Given the description of an element on the screen output the (x, y) to click on. 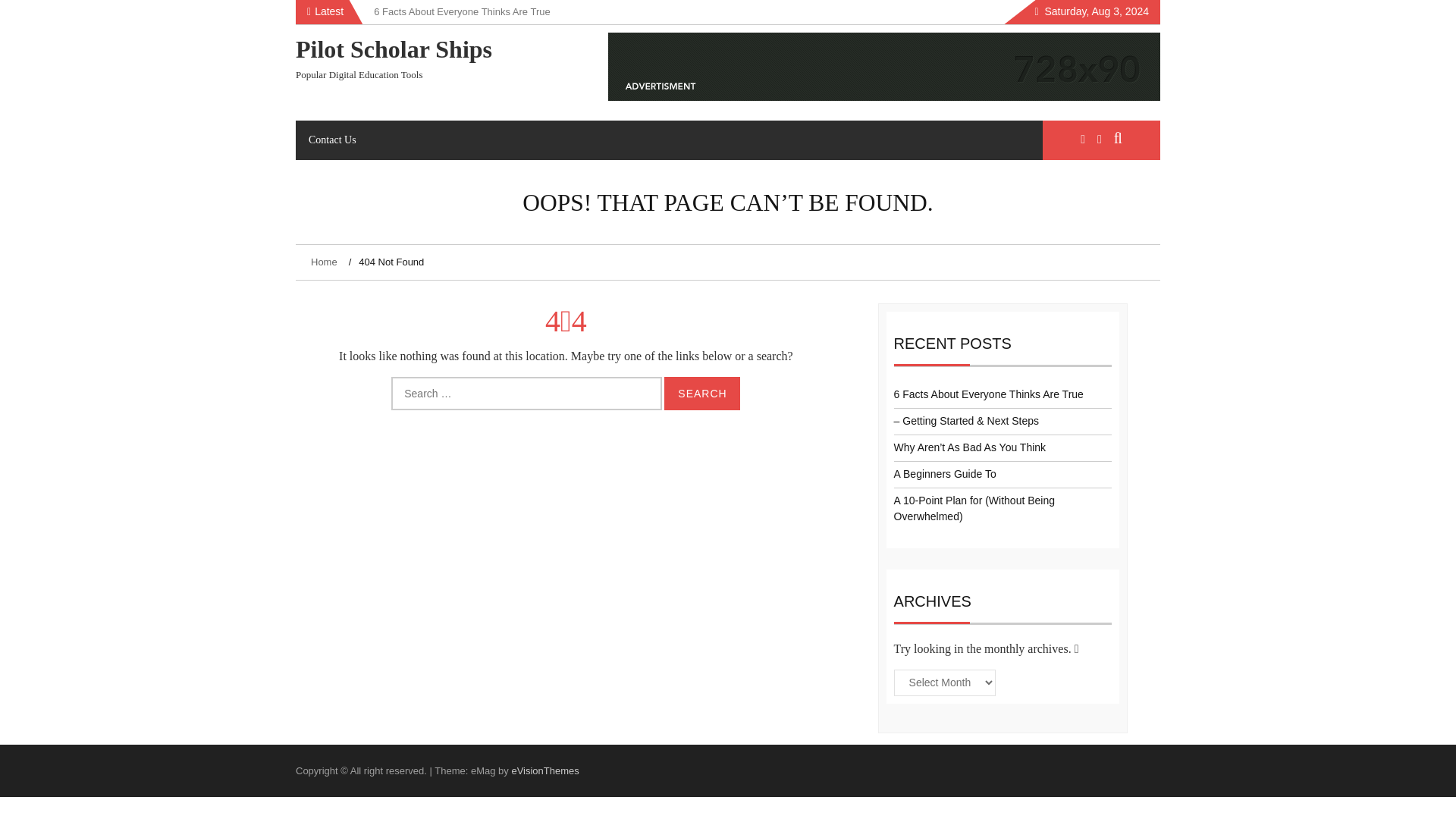
6 Facts About Everyone Thinks Are True (462, 11)
Pilot Scholar Ships (393, 49)
Home (325, 261)
Search (701, 393)
6 Facts About Everyone Thinks Are True (988, 394)
eVisionThemes (544, 770)
Contact Us (332, 139)
A Beginners Guide To (944, 473)
Search (701, 393)
Search (701, 393)
